Given the description of an element on the screen output the (x, y) to click on. 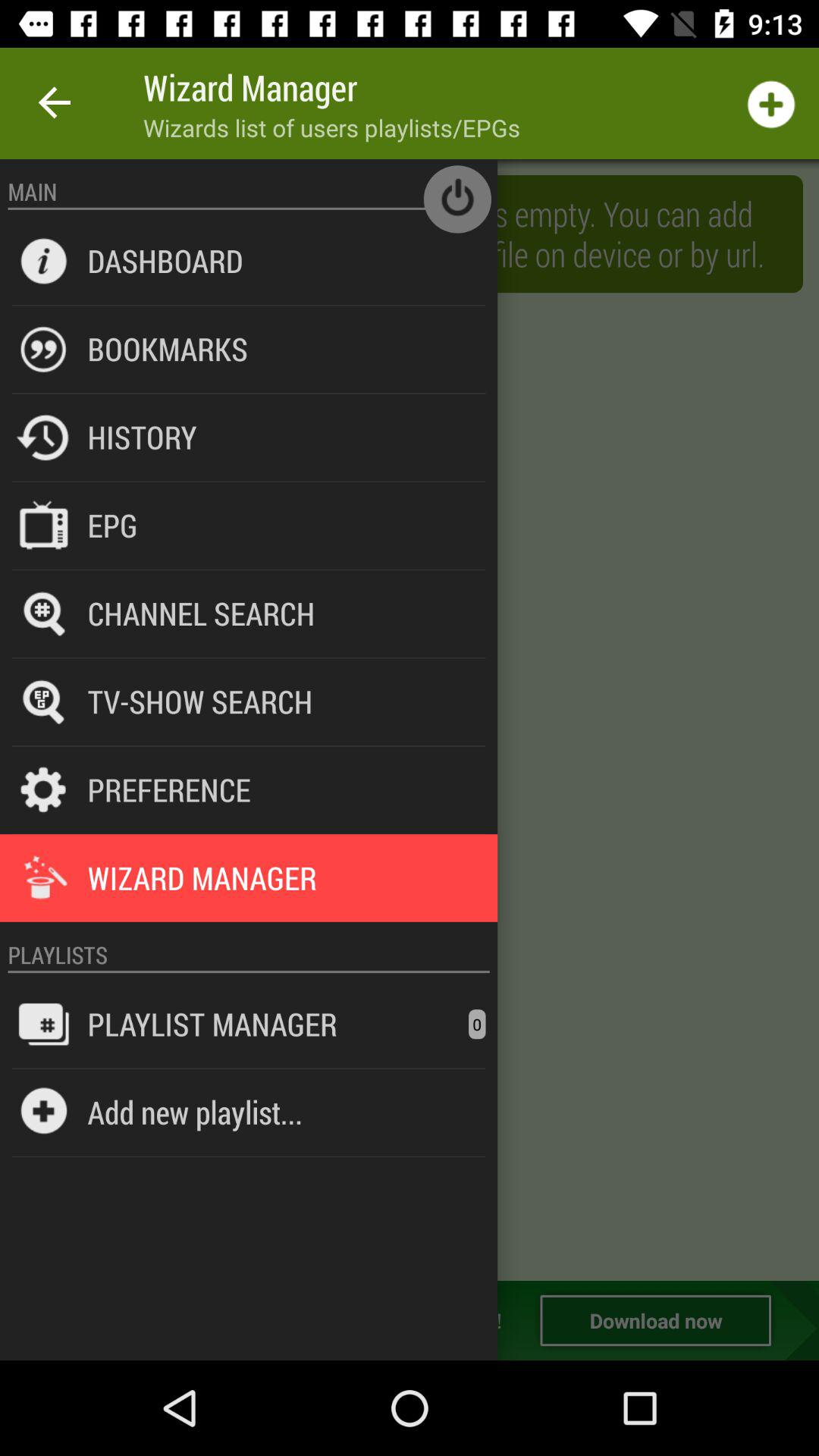
select item to the left of the wizard manager icon (55, 103)
